Given the description of an element on the screen output the (x, y) to click on. 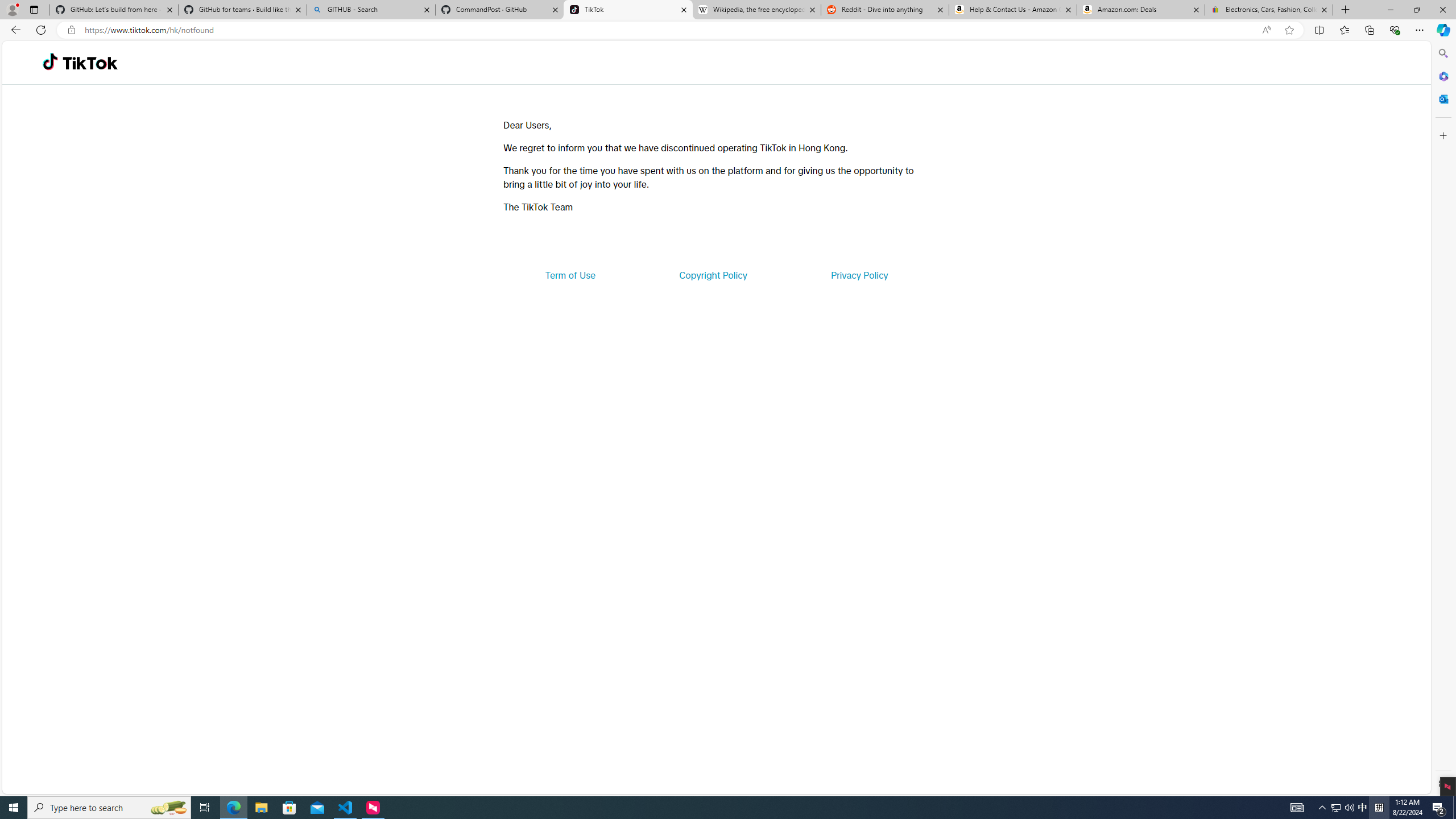
GITHUB - Search (370, 9)
